Given the description of an element on the screen output the (x, y) to click on. 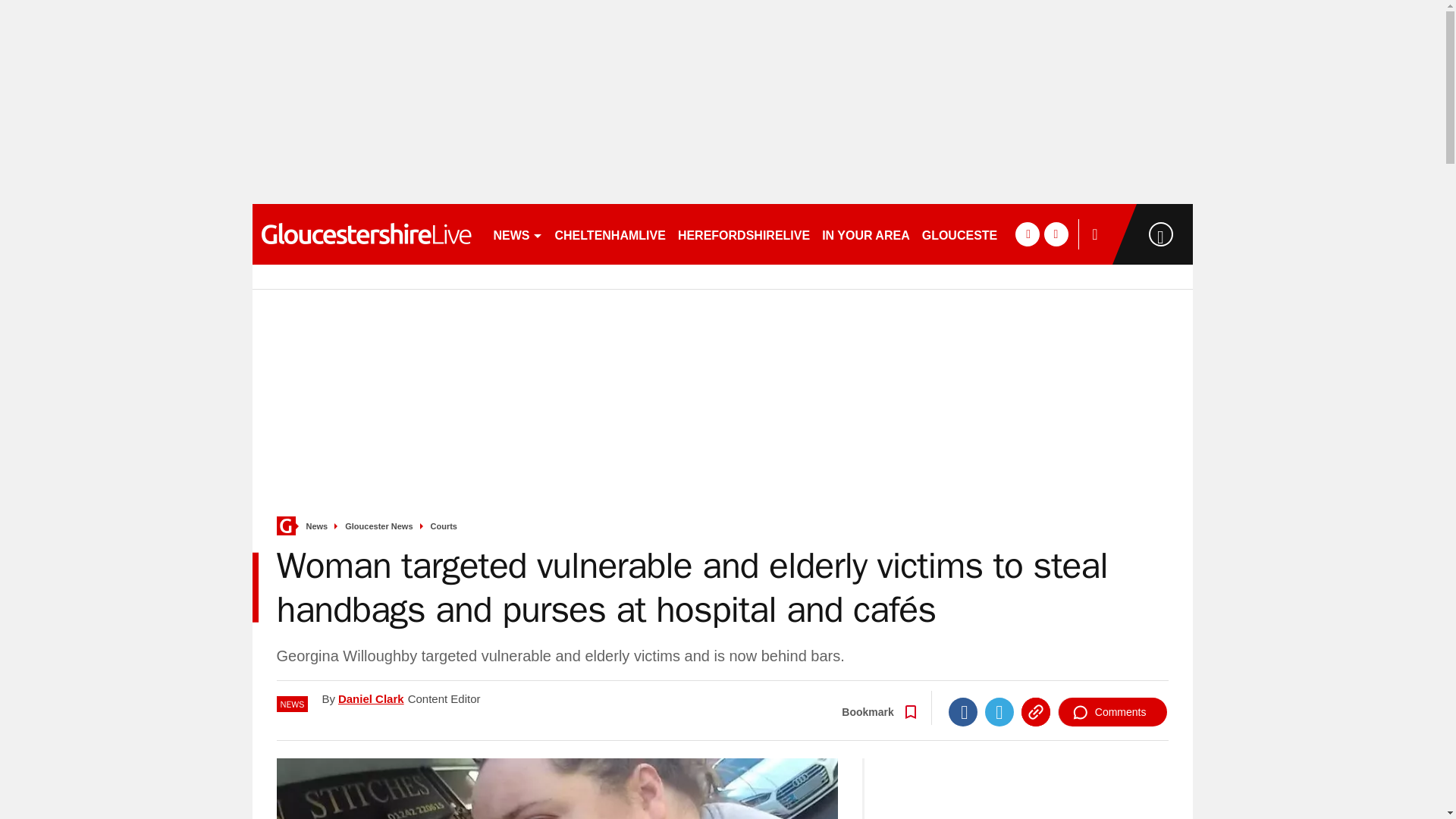
CHELTENHAMLIVE (609, 233)
NEWS (517, 233)
Facebook (962, 711)
facebook (1026, 233)
IN YOUR AREA (865, 233)
gloucestershirelive (365, 233)
GLOUCESTER NEWS (983, 233)
Twitter (999, 711)
twitter (1055, 233)
Comments (1112, 711)
